Given the description of an element on the screen output the (x, y) to click on. 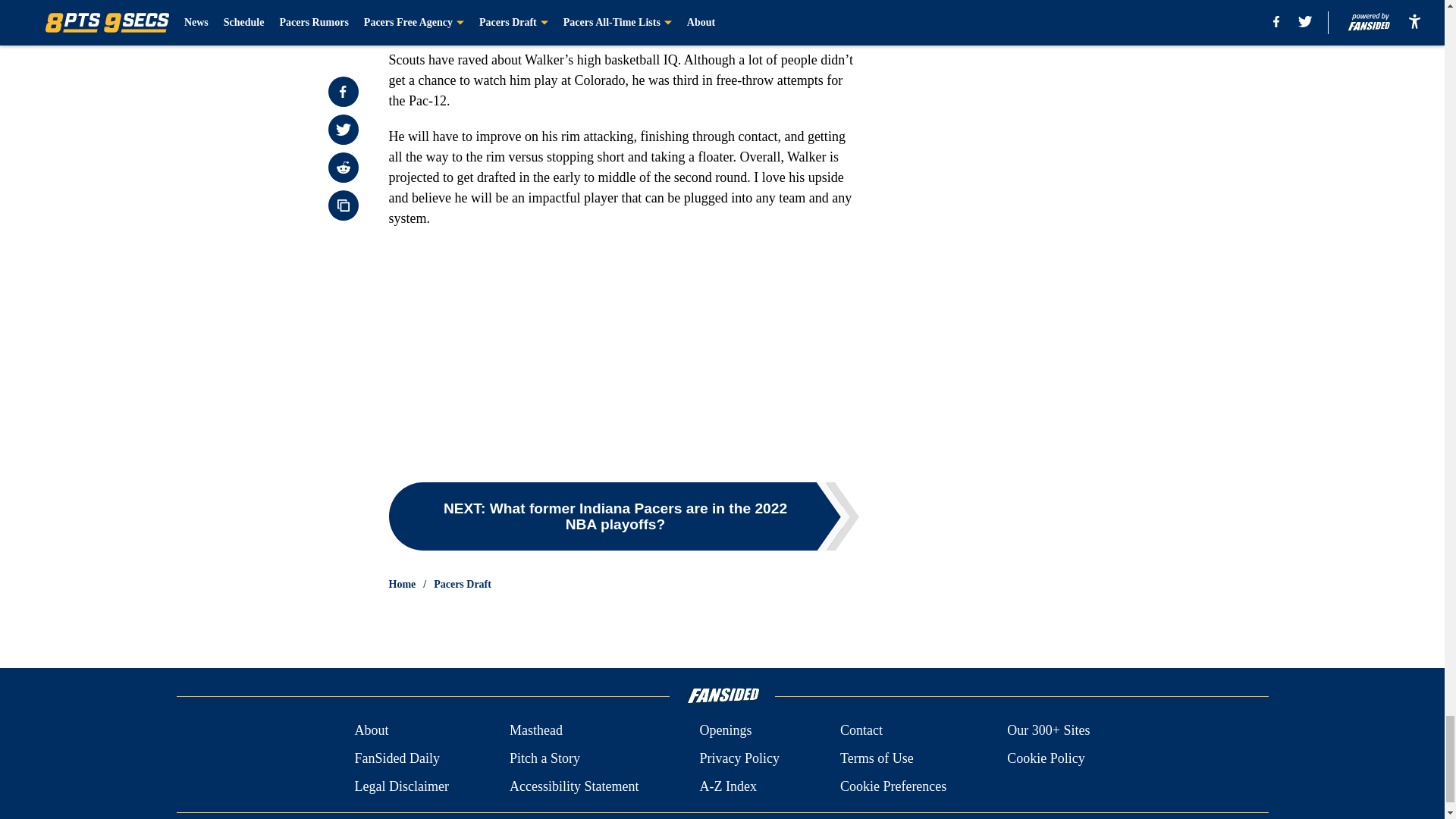
About (370, 730)
Pacers Draft (462, 584)
Masthead (535, 730)
Home (401, 584)
